Given the description of an element on the screen output the (x, y) to click on. 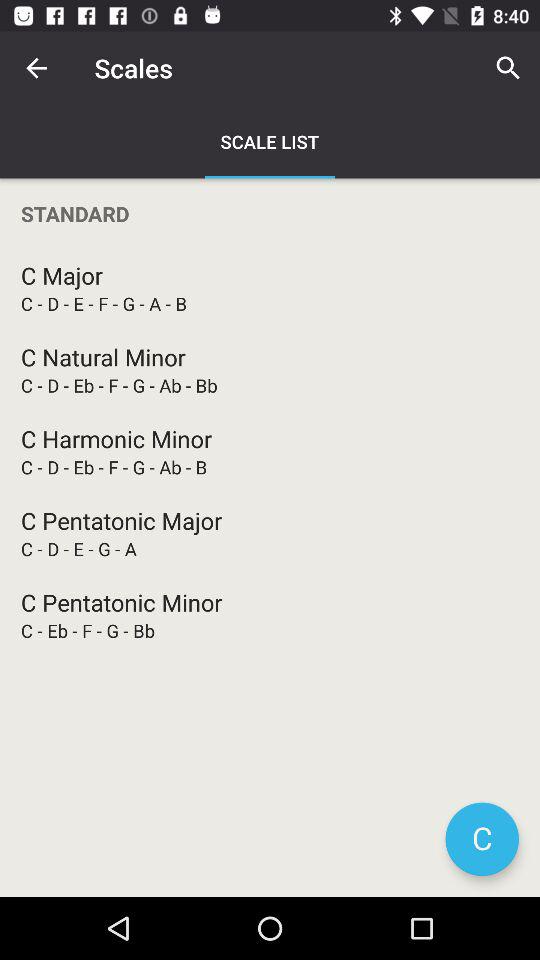
open item next to the scales item (36, 68)
